Given the description of an element on the screen output the (x, y) to click on. 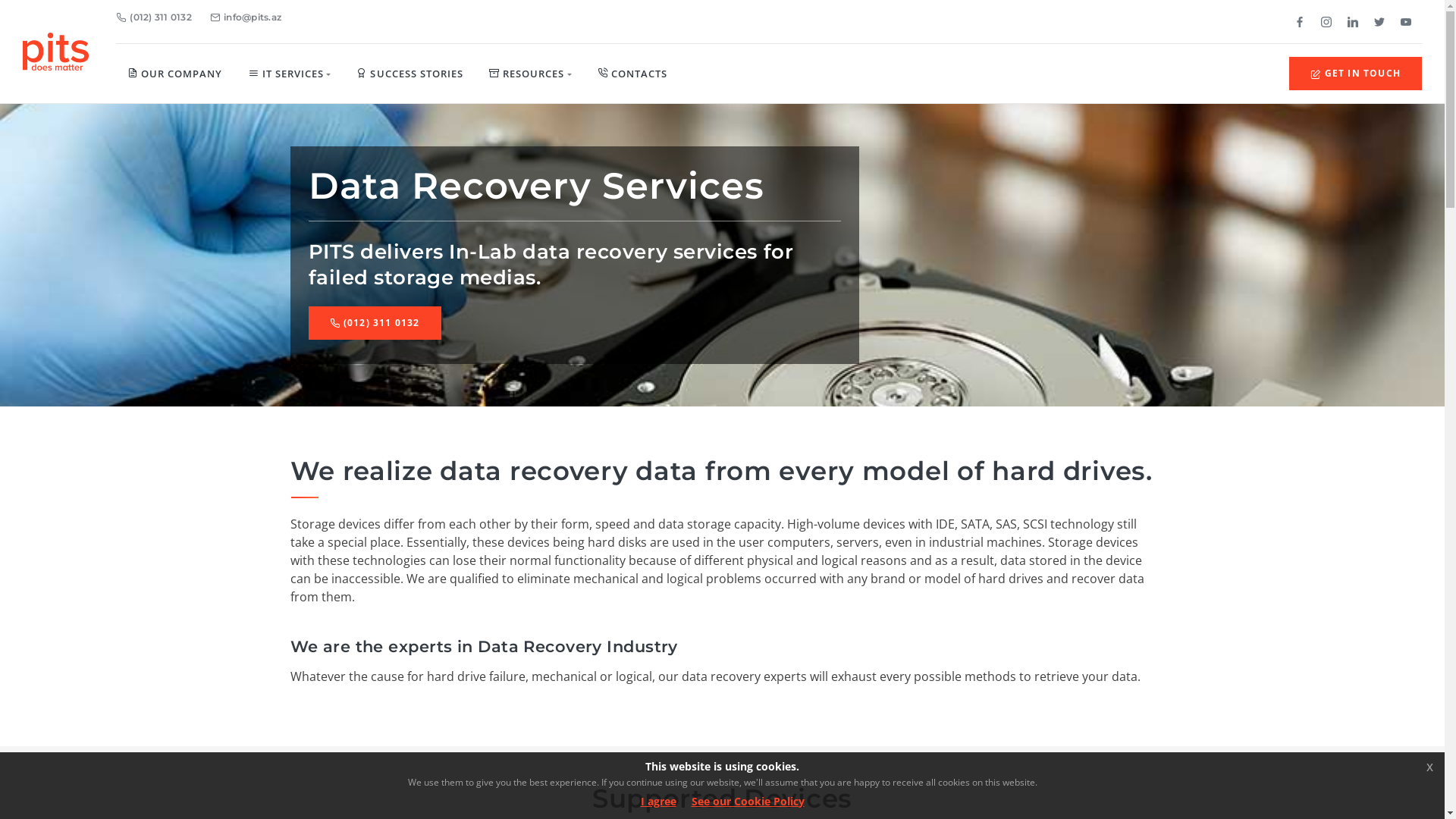
I agree Element type: text (657, 800)
 RESOURCES Element type: text (530, 73)
 IT SERVICES Element type: text (289, 73)
GET IN TOUCH Element type: text (1355, 73)
 CONTACTS Element type: text (632, 73)
(012) 311 0132 Element type: text (153, 16)
 SUCCESS STORIES Element type: text (409, 73)
(012) 311 0132 Element type: text (373, 322)
 OUR COMPANY Element type: text (175, 73)
info@pits.az Element type: text (245, 16)
See our Cookie Policy Element type: text (747, 800)
x Element type: text (1429, 766)
